Given the description of an element on the screen output the (x, y) to click on. 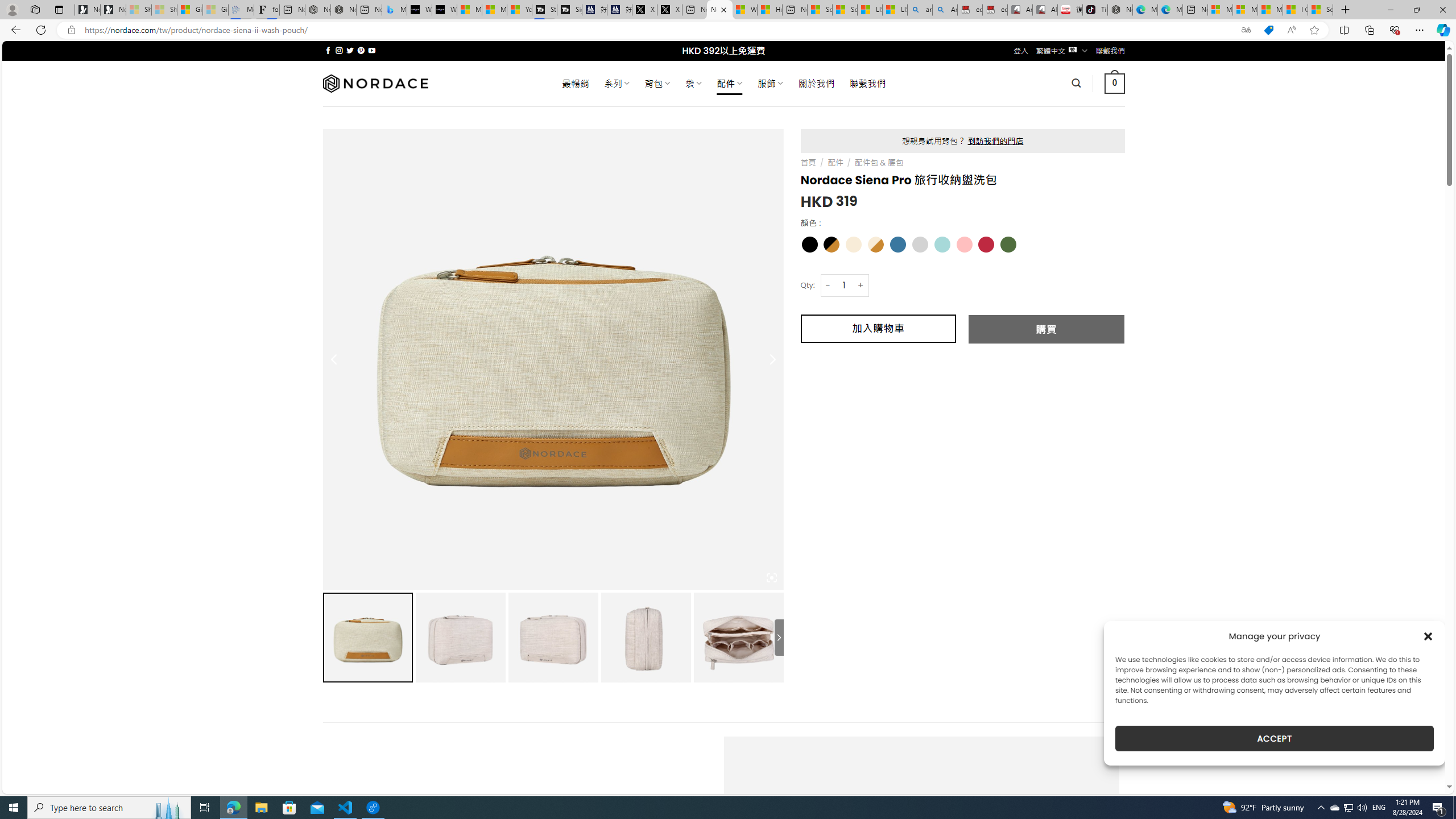
Follow on Pinterest (360, 50)
All Cubot phones (1044, 9)
Show translate options (1245, 29)
Nordace - Best Sellers (1119, 9)
